Given the description of an element on the screen output the (x, y) to click on. 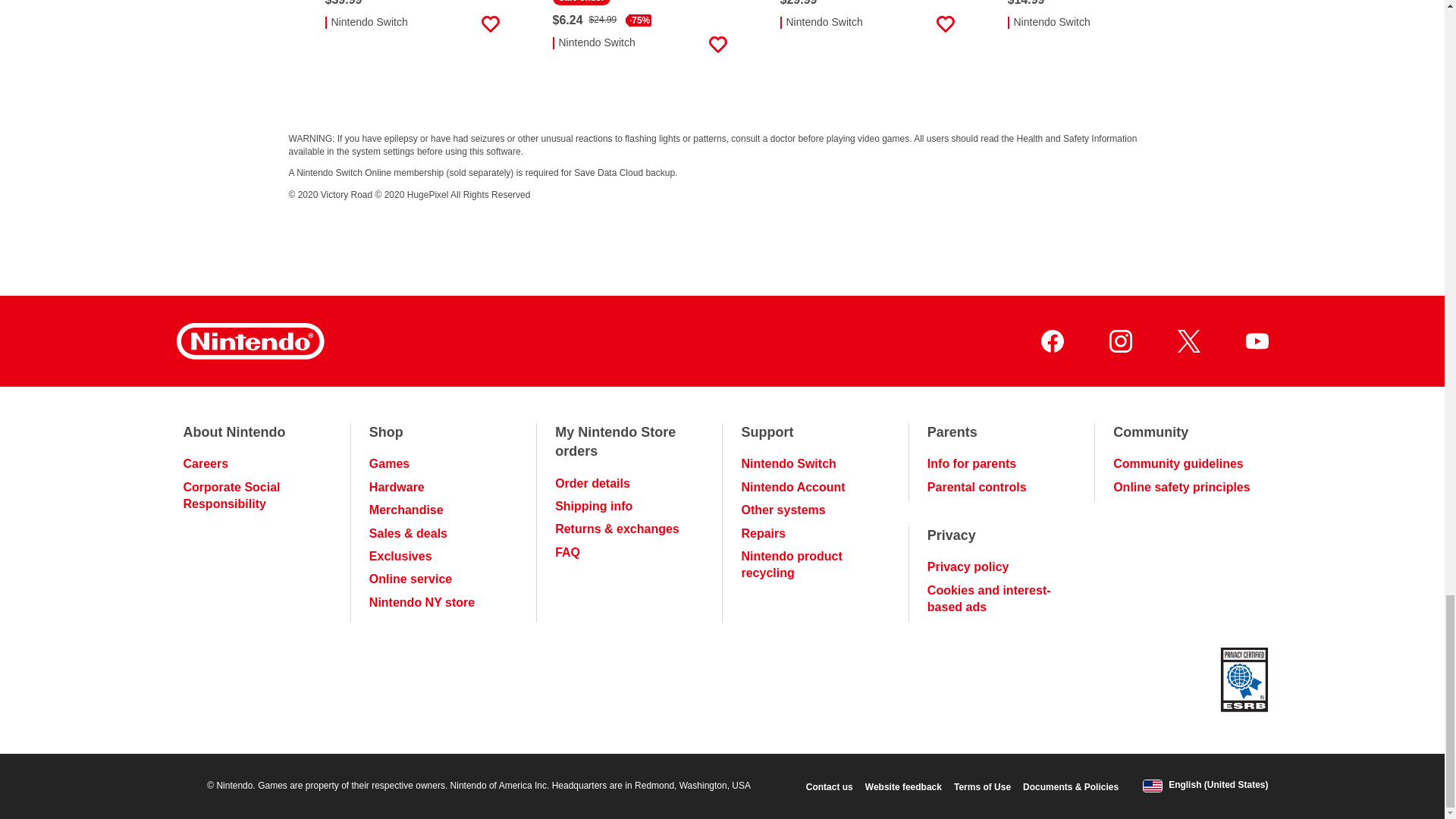
Nintendo on YouTube (1256, 341)
Add to Wish List (716, 44)
Add to Wish List (944, 24)
Nintendo on Facebook (1051, 341)
Add to Wish List (489, 24)
Nintendo Homepage (249, 340)
Nintendo on Instagram (1119, 341)
Add to Wish List (1172, 24)
Nintendo on Twitter (1187, 341)
